Given the description of an element on the screen output the (x, y) to click on. 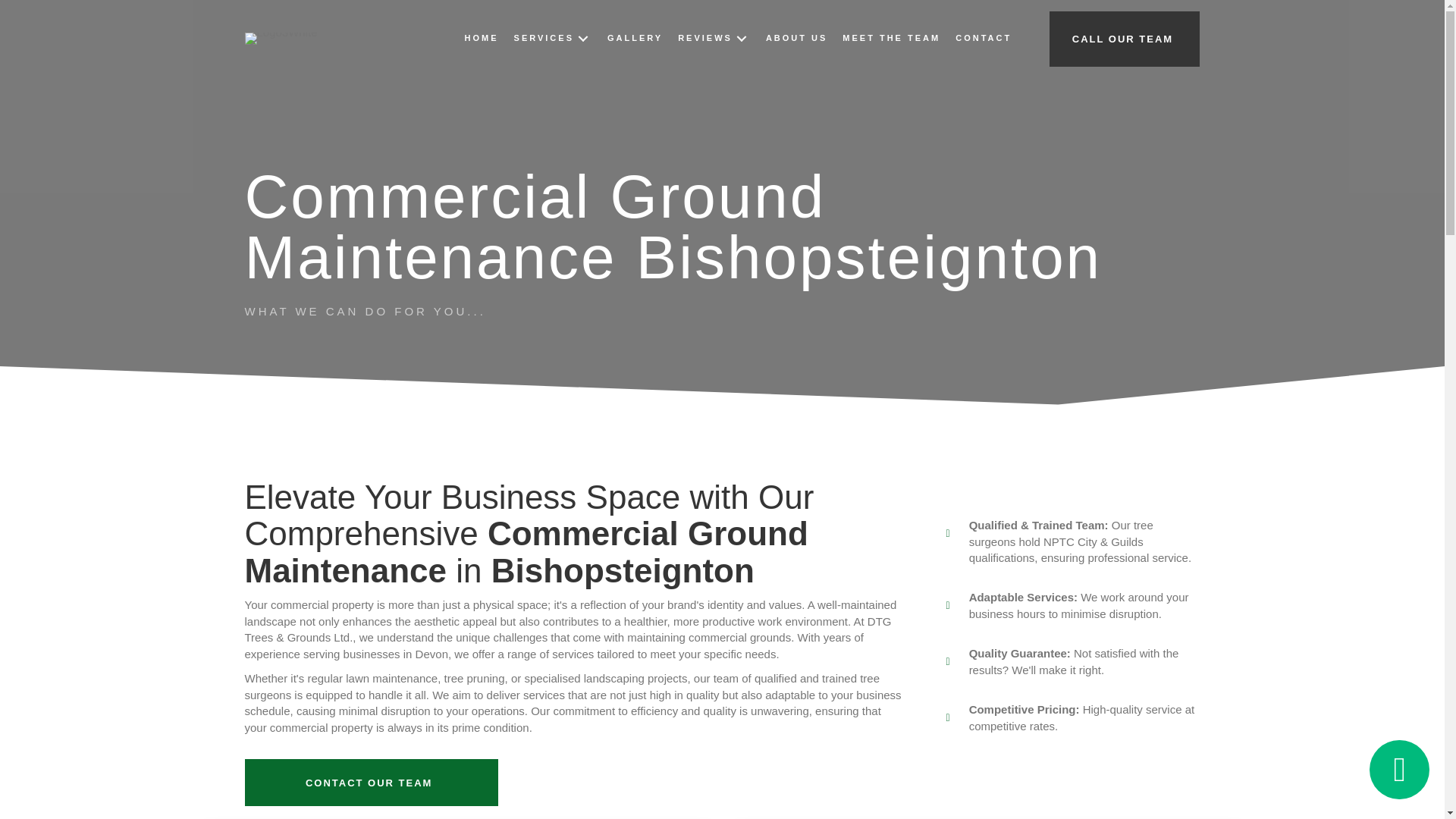
MEET THE TEAM (890, 38)
GALLERY (634, 38)
REVIEWS (713, 38)
HOME (481, 38)
Logo3White (280, 38)
SERVICES (552, 38)
ABOUT US (796, 38)
CONTACT (983, 38)
